Given the description of an element on the screen output the (x, y) to click on. 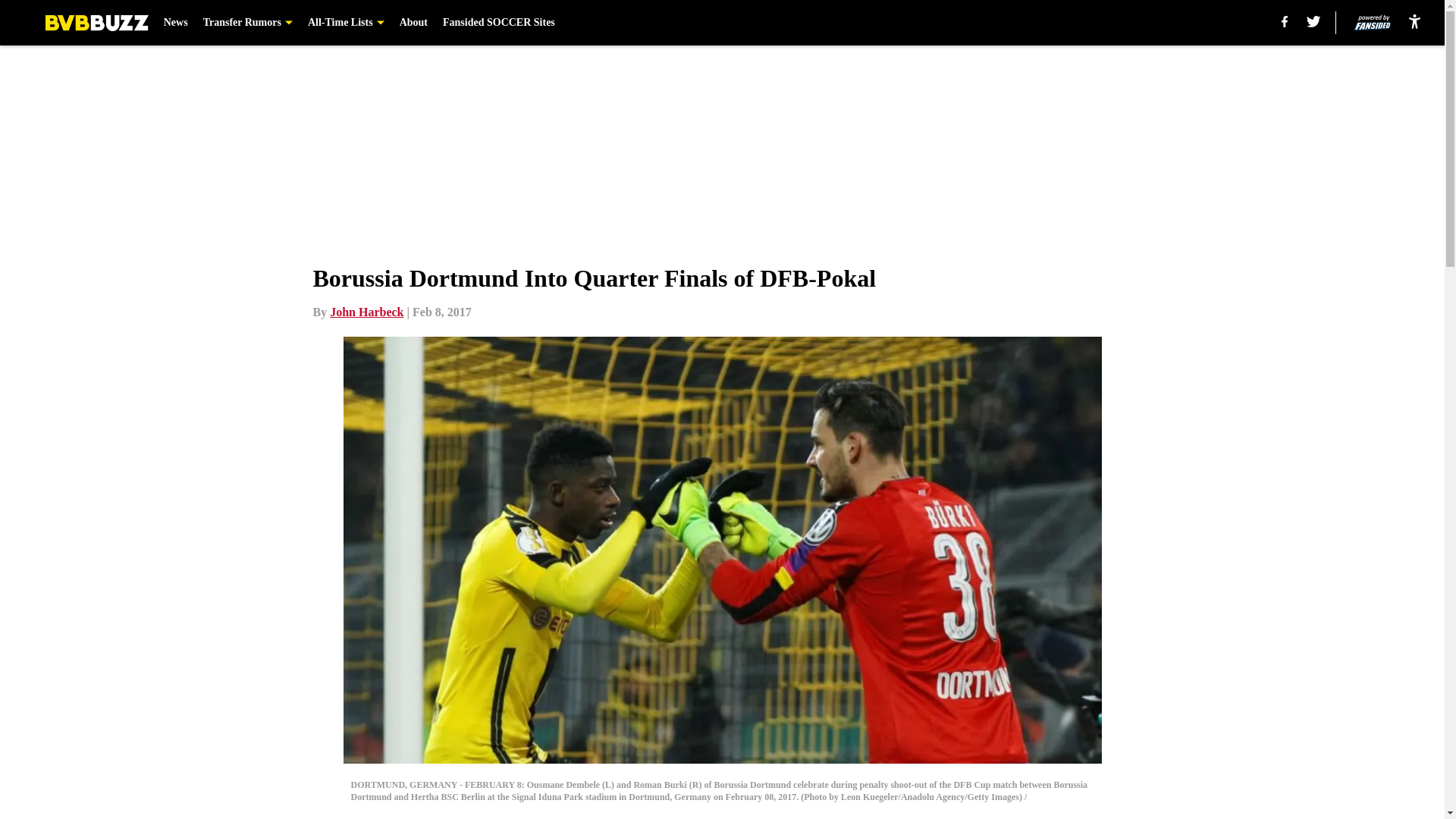
About (413, 22)
John Harbeck (366, 311)
Fansided SOCCER Sites (498, 22)
News (175, 22)
